Given the description of an element on the screen output the (x, y) to click on. 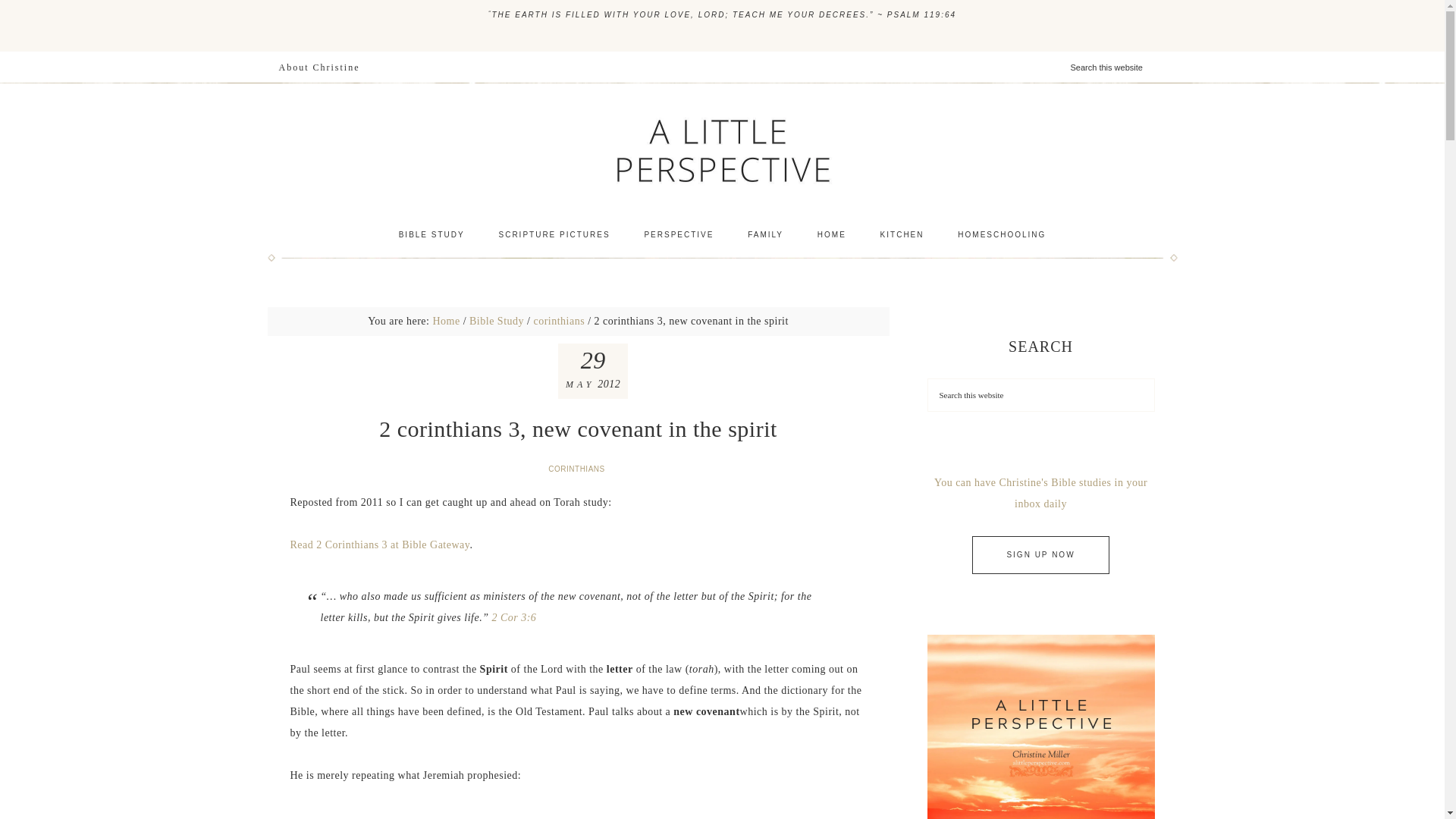
2 Cor 3:6 (513, 617)
BIBLE STUDY (432, 234)
CORINTHIANS (577, 469)
Bible Study (496, 320)
A LITTLE PERSPECTIVE (721, 149)
You can have Christine's Bible studies in your inbox daily (1040, 492)
